Given the description of an element on the screen output the (x, y) to click on. 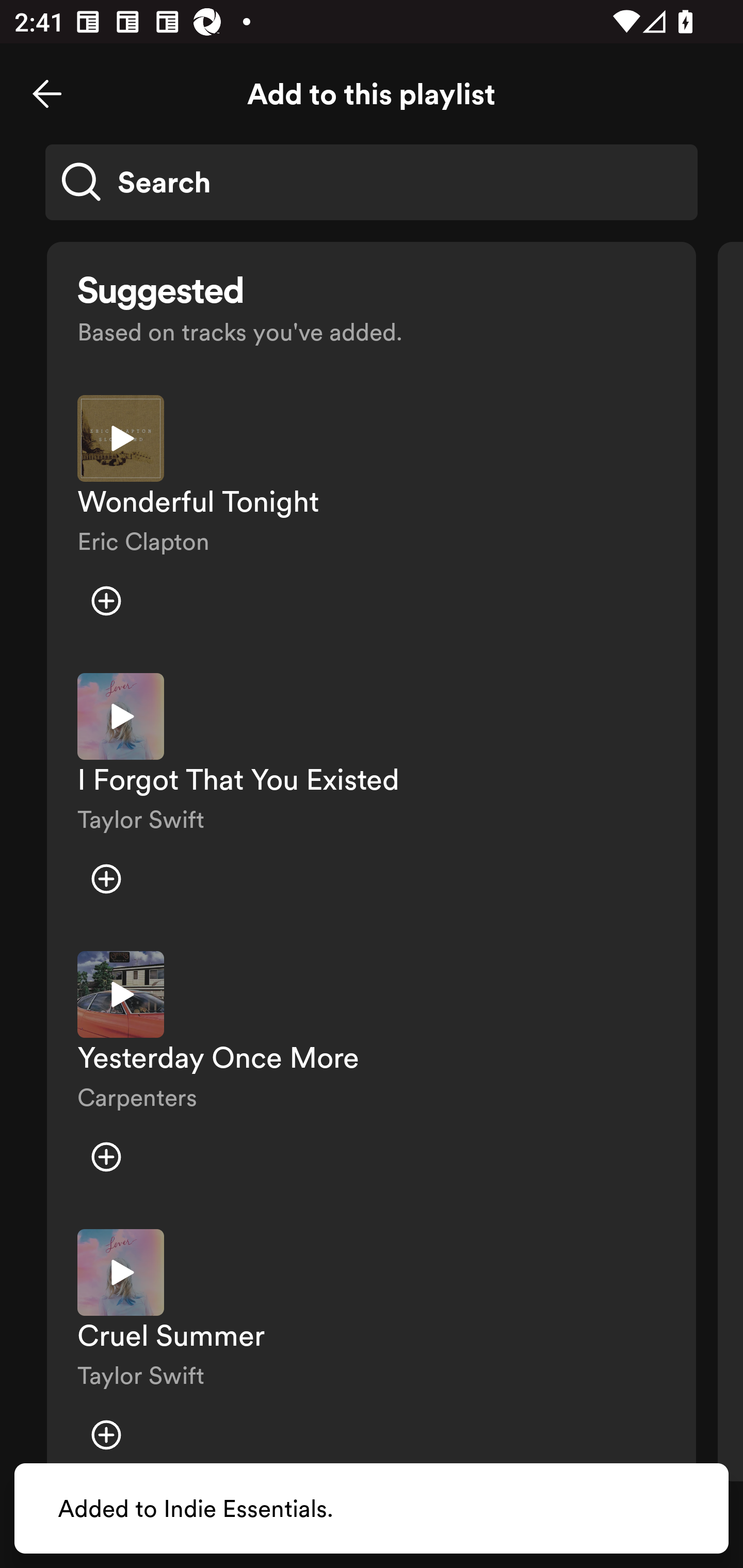
Close (46, 93)
Search (371, 181)
Play preview (120, 438)
Add item (106, 601)
Play preview (120, 716)
Add item (106, 878)
Play preview (120, 994)
Add item (106, 1156)
Play preview Cruel Summer Taylor Swift Add item (371, 1348)
Play preview (120, 1272)
Add item (106, 1435)
